Given the description of an element on the screen output the (x, y) to click on. 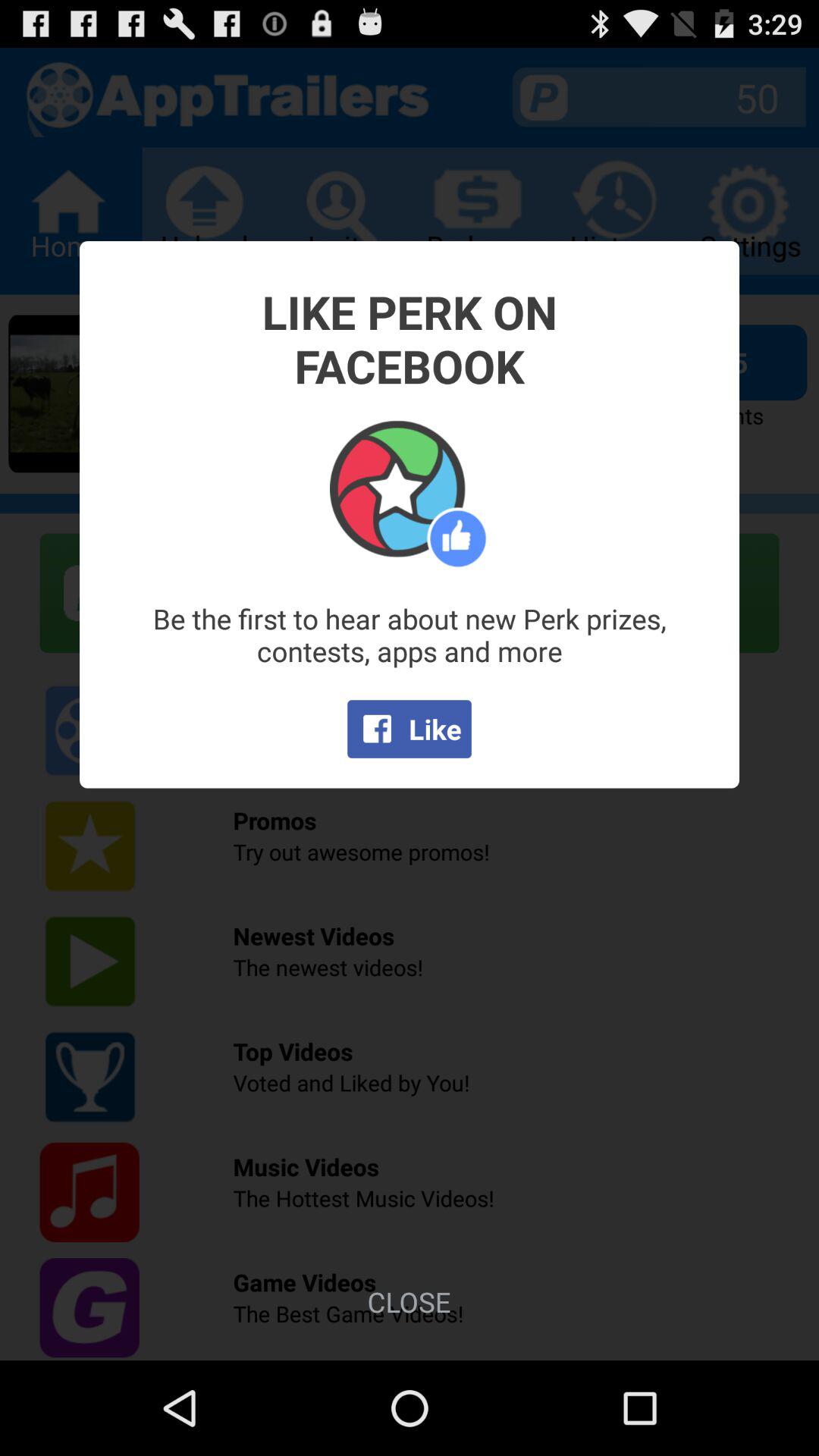
flip to the close app (409, 1301)
